Given the description of an element on the screen output the (x, y) to click on. 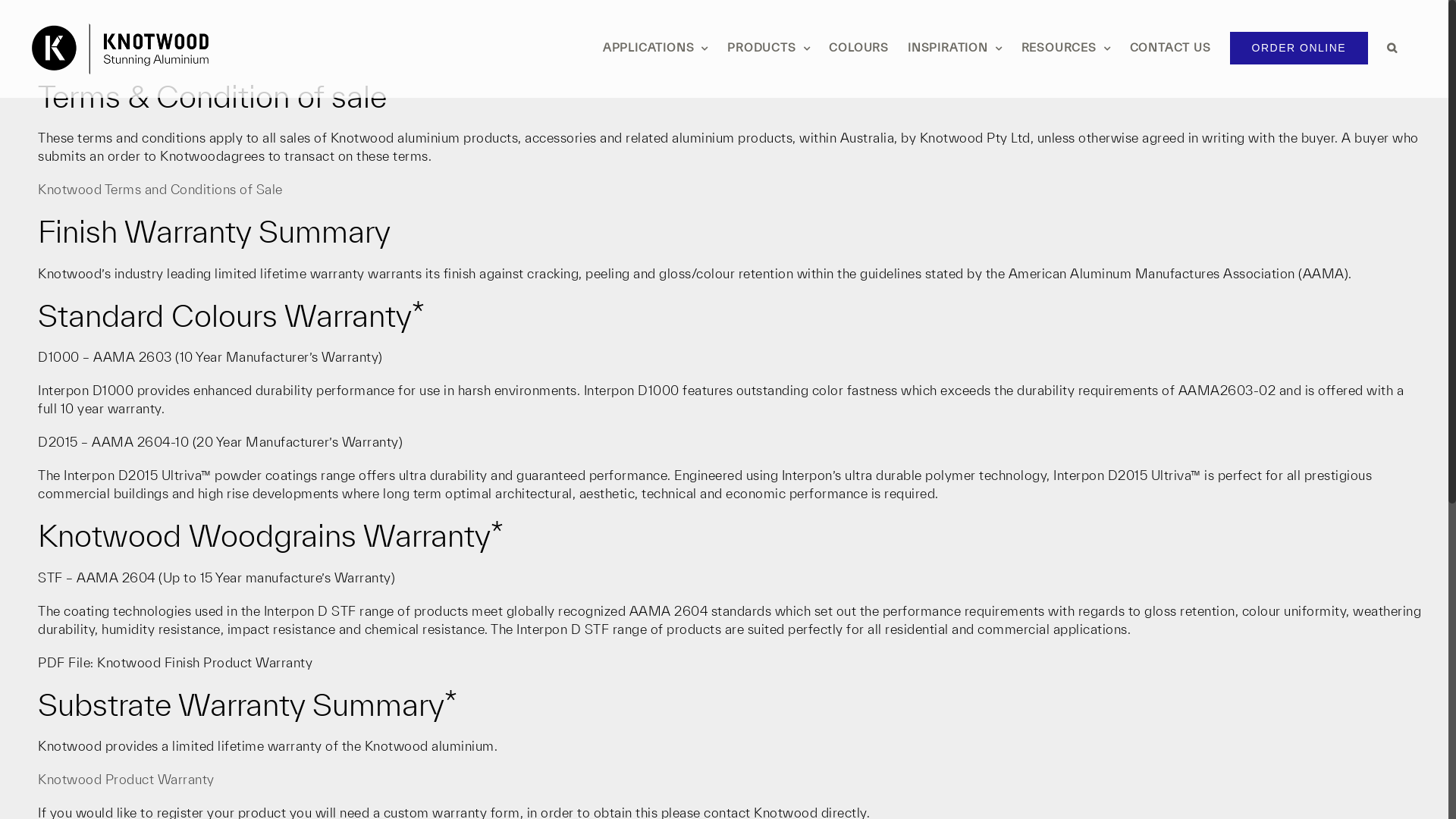
Knotwood Terms and Conditions of Sale Element type: text (159, 189)
ORDER ONLINE Element type: text (1299, 47)
Knotwood Product Warranty Element type: text (125, 778)
CONTACT US Element type: text (1170, 47)
INSPIRATION Element type: text (954, 47)
RESOURCES Element type: text (1065, 47)
PRODUCTS Element type: text (768, 47)
Search Element type: hover (1391, 47)
APPLICATIONS Element type: text (655, 47)
COLOURS Element type: text (858, 47)
